Given the description of an element on the screen output the (x, y) to click on. 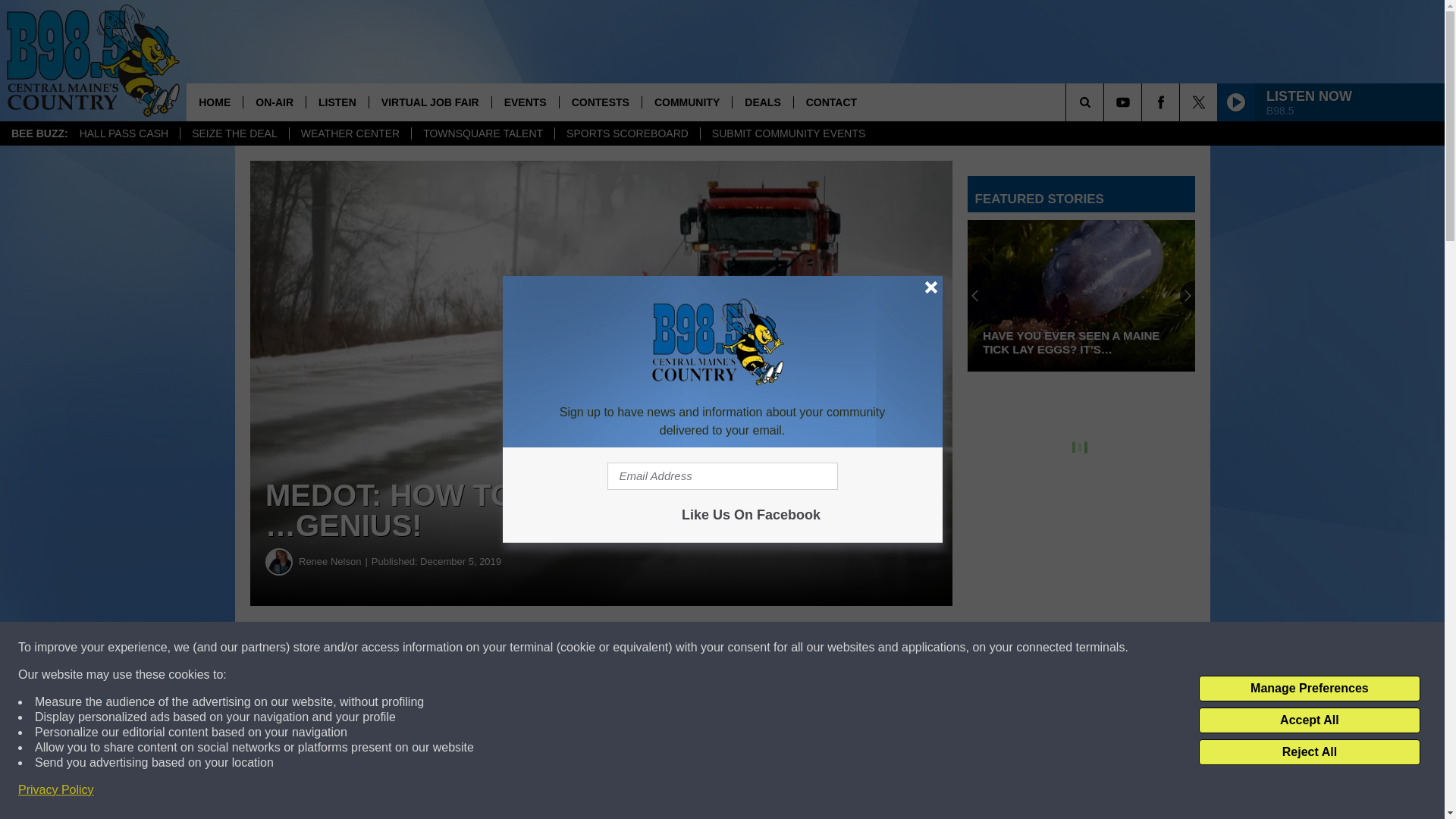
SPORTS SCOREBOARD (627, 133)
WEATHER CENTER (349, 133)
VIRTUAL JOB FAIR (430, 102)
Share on Facebook (460, 647)
CONTESTS (600, 102)
Email Address (722, 475)
SUBMIT COMMUNITY EVENTS (788, 133)
LISTEN (336, 102)
TOWNSQUARE TALENT (482, 133)
Accept All (1309, 720)
SEARCH (1106, 102)
Privacy Policy (55, 789)
HOME (214, 102)
ON-AIR (274, 102)
Share on Twitter (741, 647)
